Given the description of an element on the screen output the (x, y) to click on. 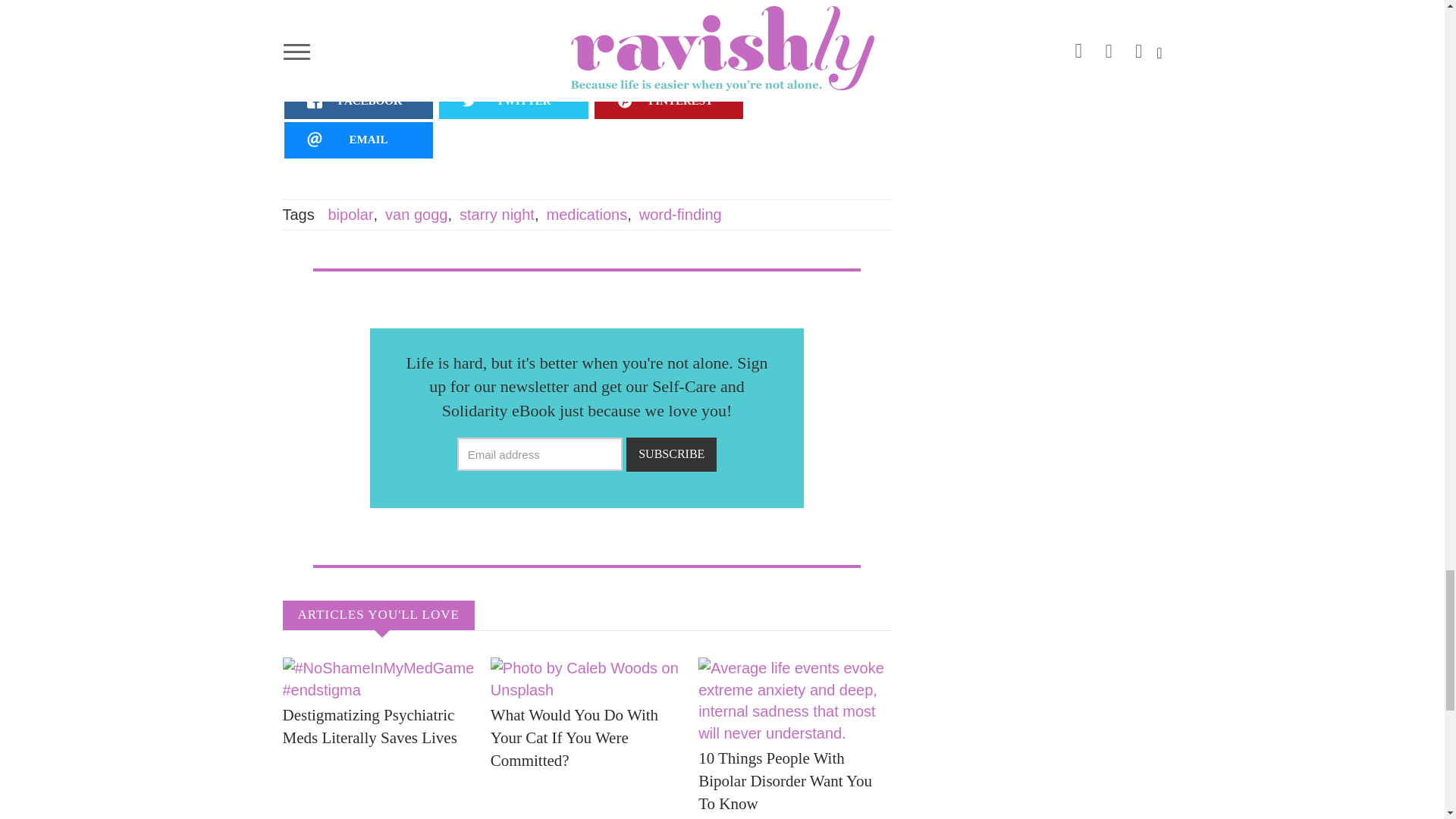
SUBSCRIBE (671, 454)
Photo by Caleb Woods on Unsplash (586, 679)
